Given the description of an element on the screen output the (x, y) to click on. 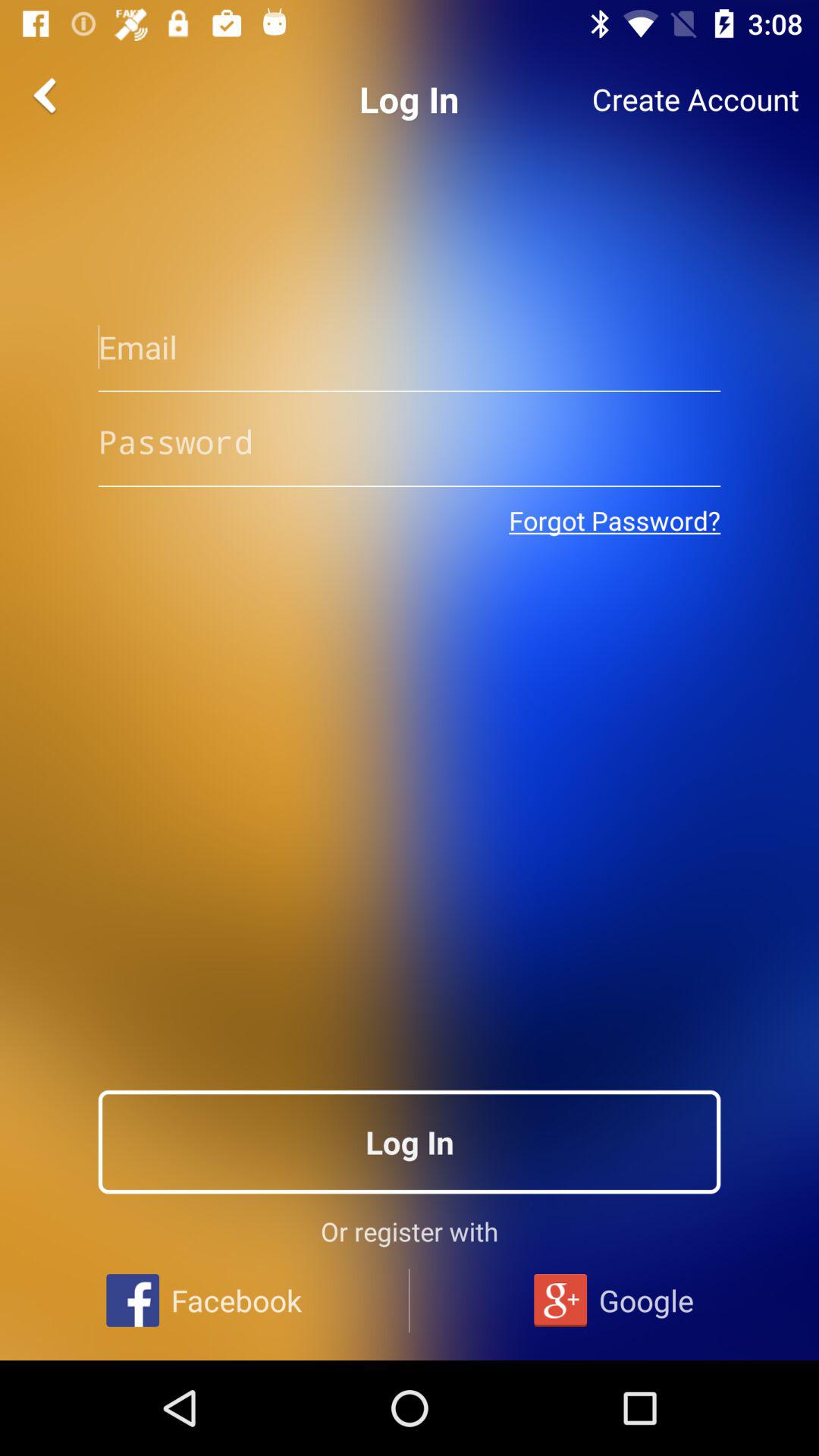
scroll to create account icon (695, 99)
